Given the description of an element on the screen output the (x, y) to click on. 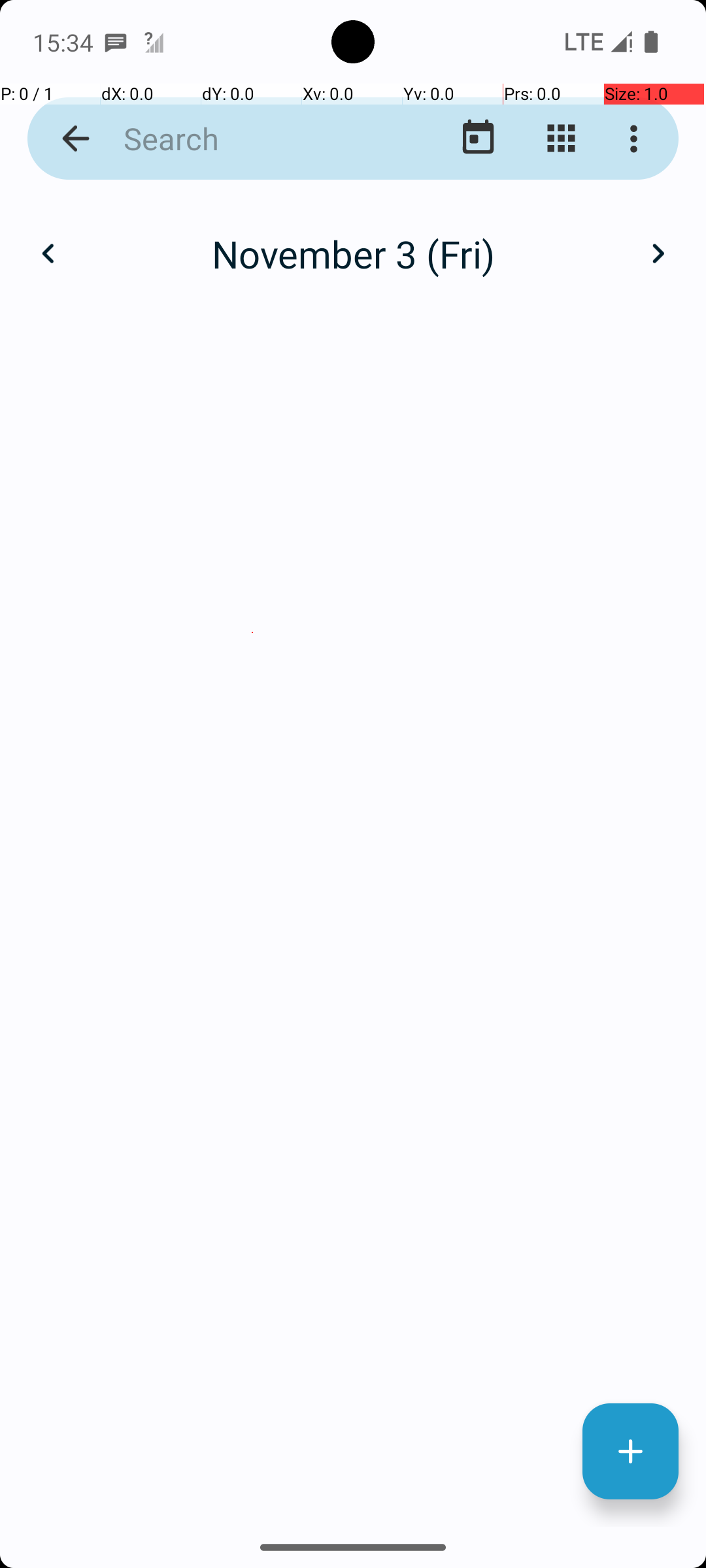
November 3 (Fri) Element type: android.widget.TextView (352, 253)
